Given the description of an element on the screen output the (x, y) to click on. 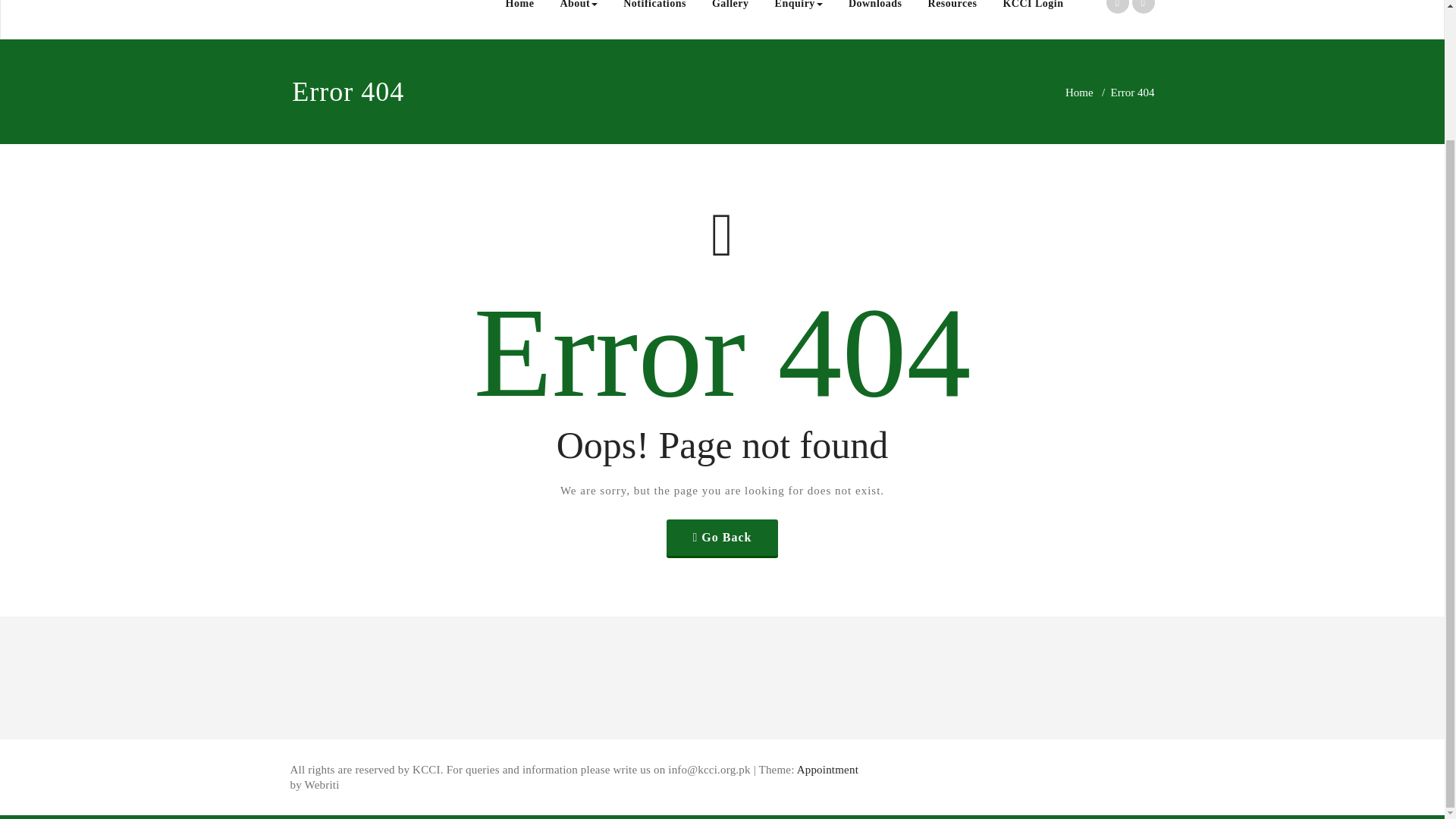
Enquiry (798, 9)
Resources (952, 9)
Home (520, 9)
Downloads (875, 9)
Gallery (729, 9)
Notifications (654, 9)
Home (1079, 92)
About (578, 9)
Go Back (722, 537)
KCCI Login (1032, 9)
